Given the description of an element on the screen output the (x, y) to click on. 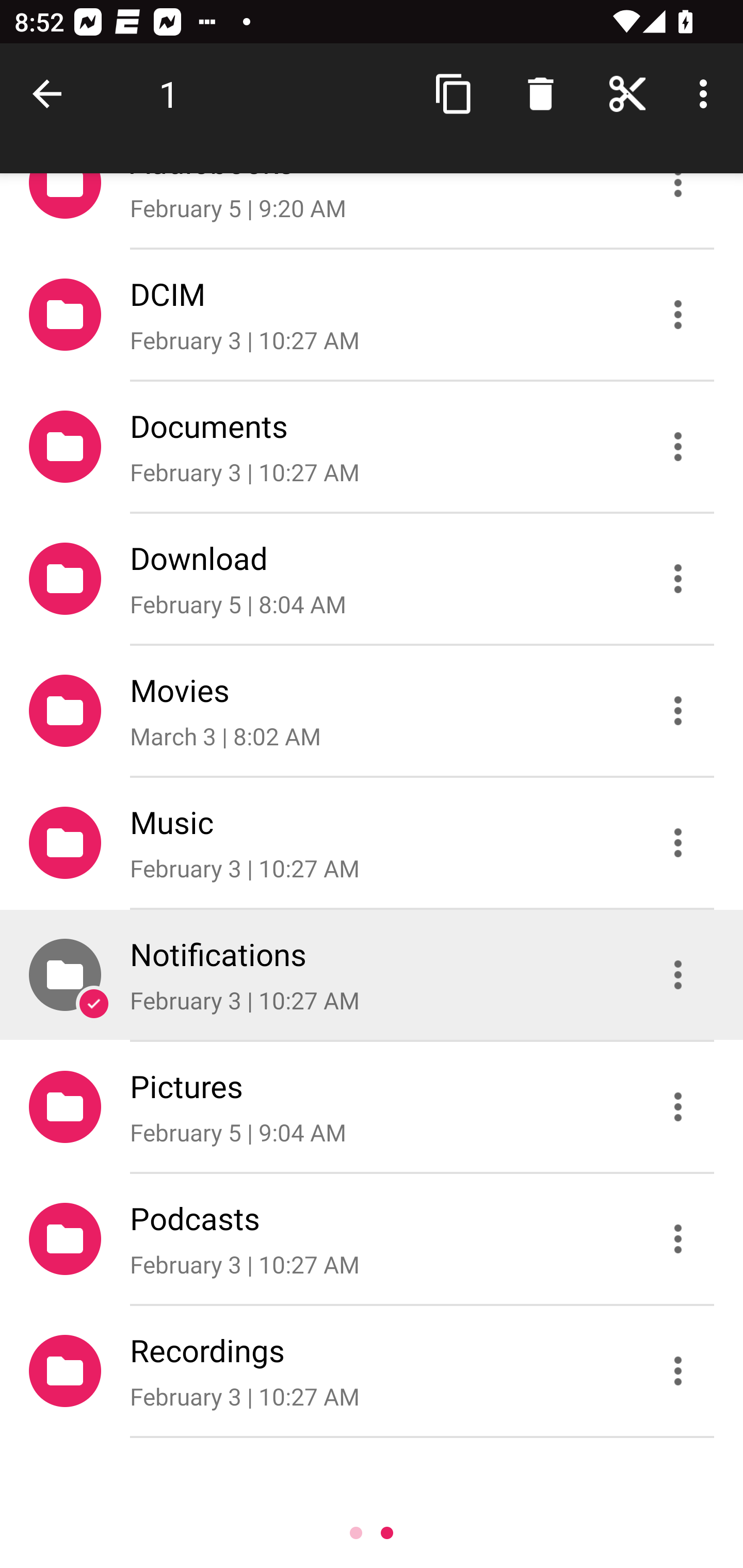
1 (169, 93)
Done (50, 93)
Copy (453, 93)
Delete (540, 93)
Cut (626, 93)
More options (706, 93)
Audiobooks February 5 | 9:20 AM (371, 210)
DCIM February 3 | 10:27 AM (371, 314)
Documents February 3 | 10:27 AM (371, 446)
Download February 5 | 8:04 AM (371, 579)
Movies March 3 | 8:02 AM (371, 711)
Music February 3 | 10:27 AM (371, 842)
Notifications February 3 | 10:27 AM (371, 974)
Pictures February 5 | 9:04 AM (371, 1106)
Podcasts February 3 | 10:27 AM (371, 1239)
Recordings February 3 | 10:27 AM (371, 1371)
